Given the description of an element on the screen output the (x, y) to click on. 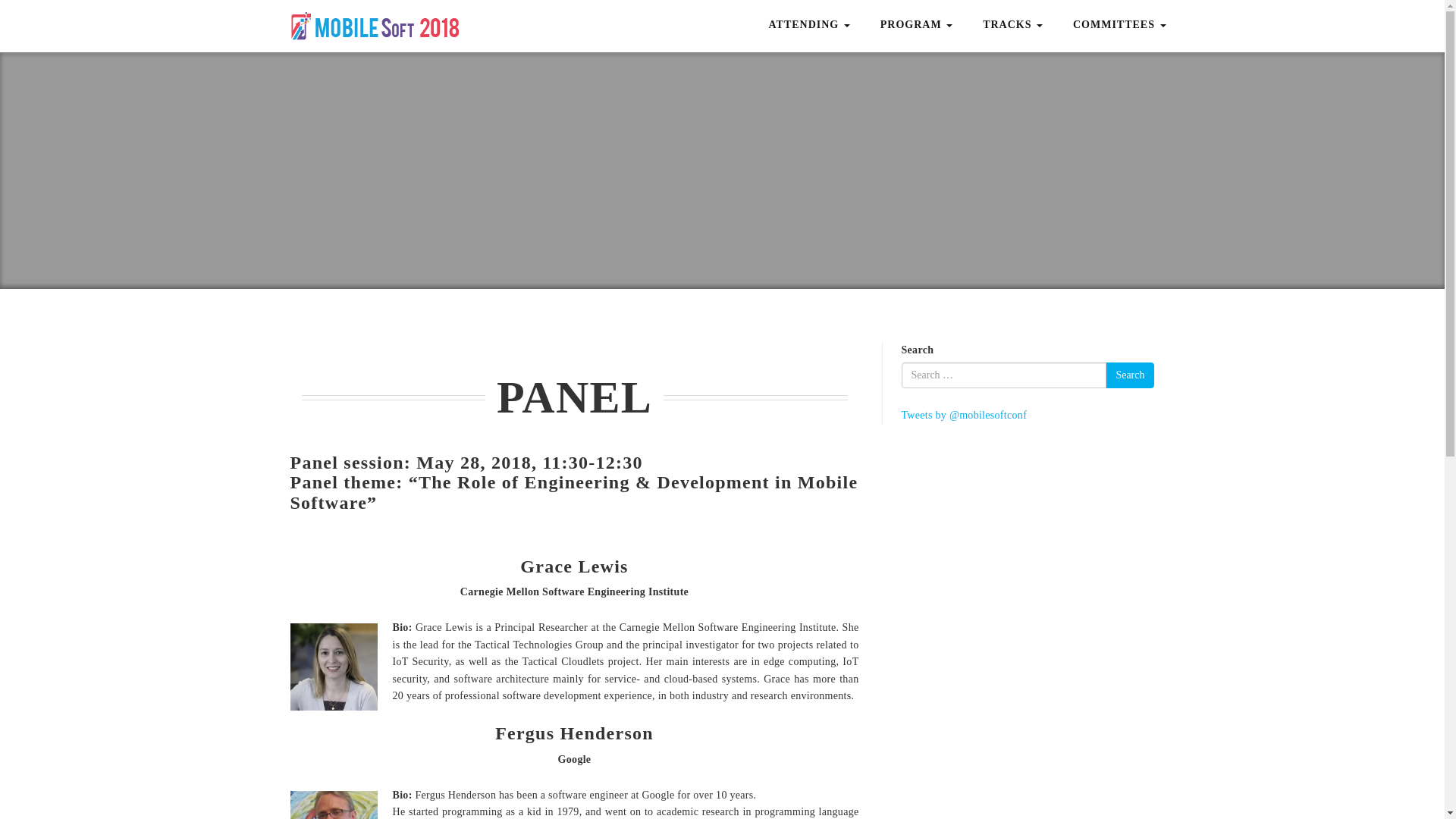
Search (1129, 375)
Search (1129, 375)
COMMITTEES (1119, 24)
Tracks (1012, 24)
TRACKS (1012, 24)
ATTENDING (808, 24)
PROGRAM (916, 24)
Attending (808, 24)
Program (916, 24)
